Given the description of an element on the screen output the (x, y) to click on. 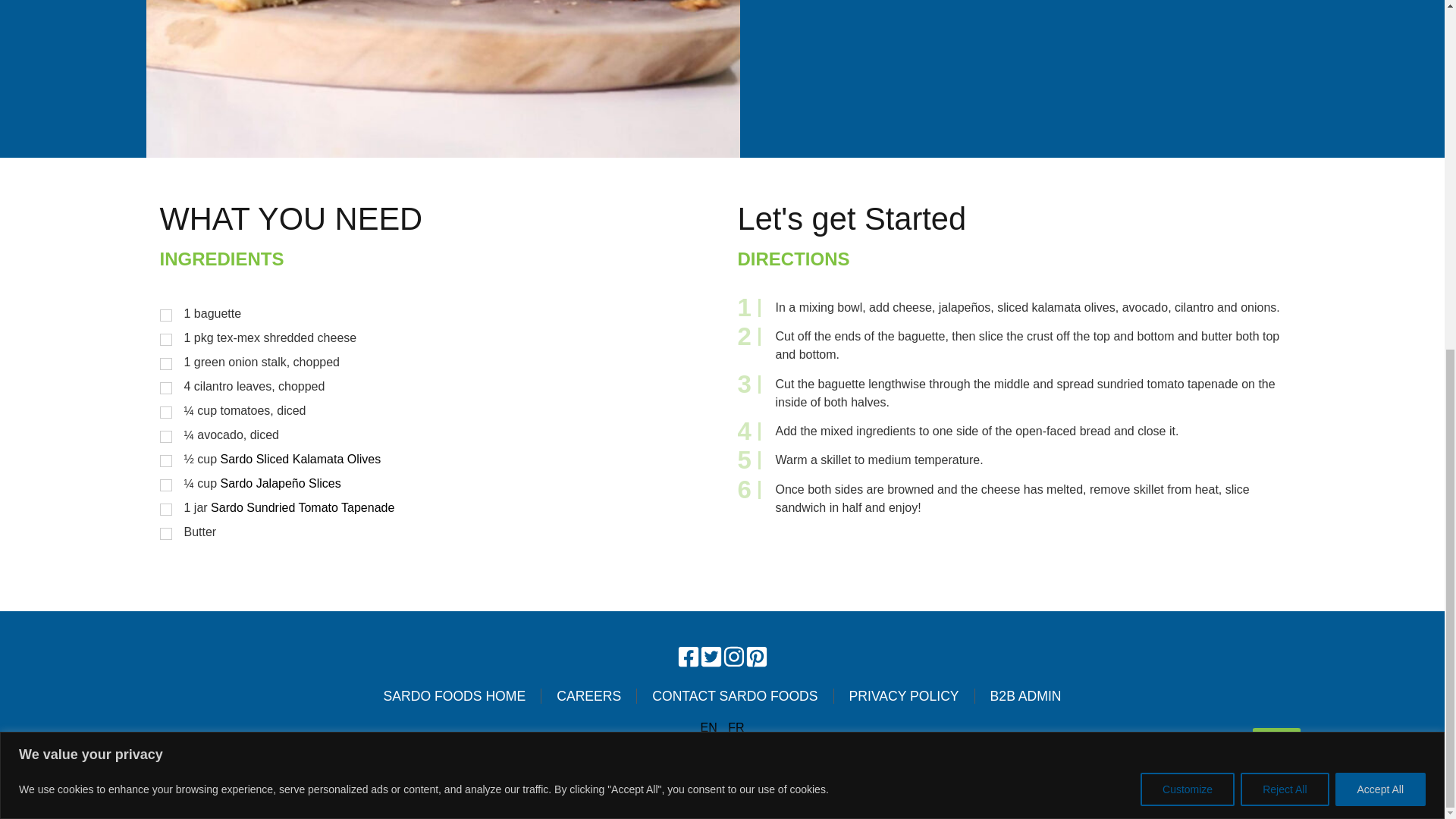
SARDO FOODS HOME (454, 695)
Customize (1187, 184)
Accept All (1380, 184)
Sardo Sundried Tomato Tapenade (302, 507)
Sardo Sliced Kalamata Olives (301, 459)
Reject All (1283, 184)
